Given the description of an element on the screen output the (x, y) to click on. 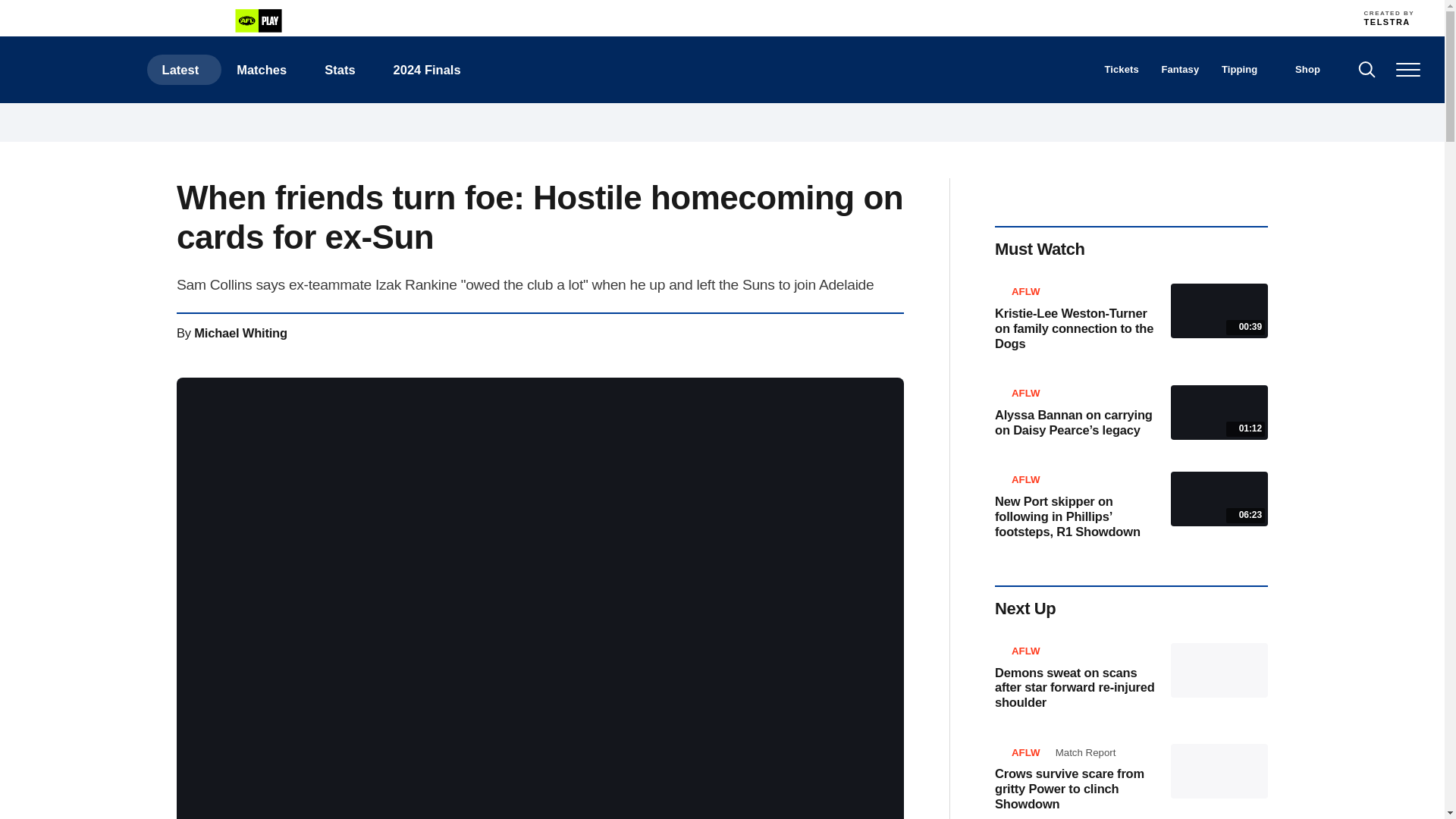
St Kilda (1004, 17)
North Melbourne (904, 17)
Richmond (971, 17)
Collingwood (637, 17)
Brisbane (571, 17)
AFL Play (258, 20)
Gold Coast Suns (770, 17)
AFLW (155, 21)
Adelaide Crows (537, 17)
Sydney Swans (1037, 17)
